Given the description of an element on the screen output the (x, y) to click on. 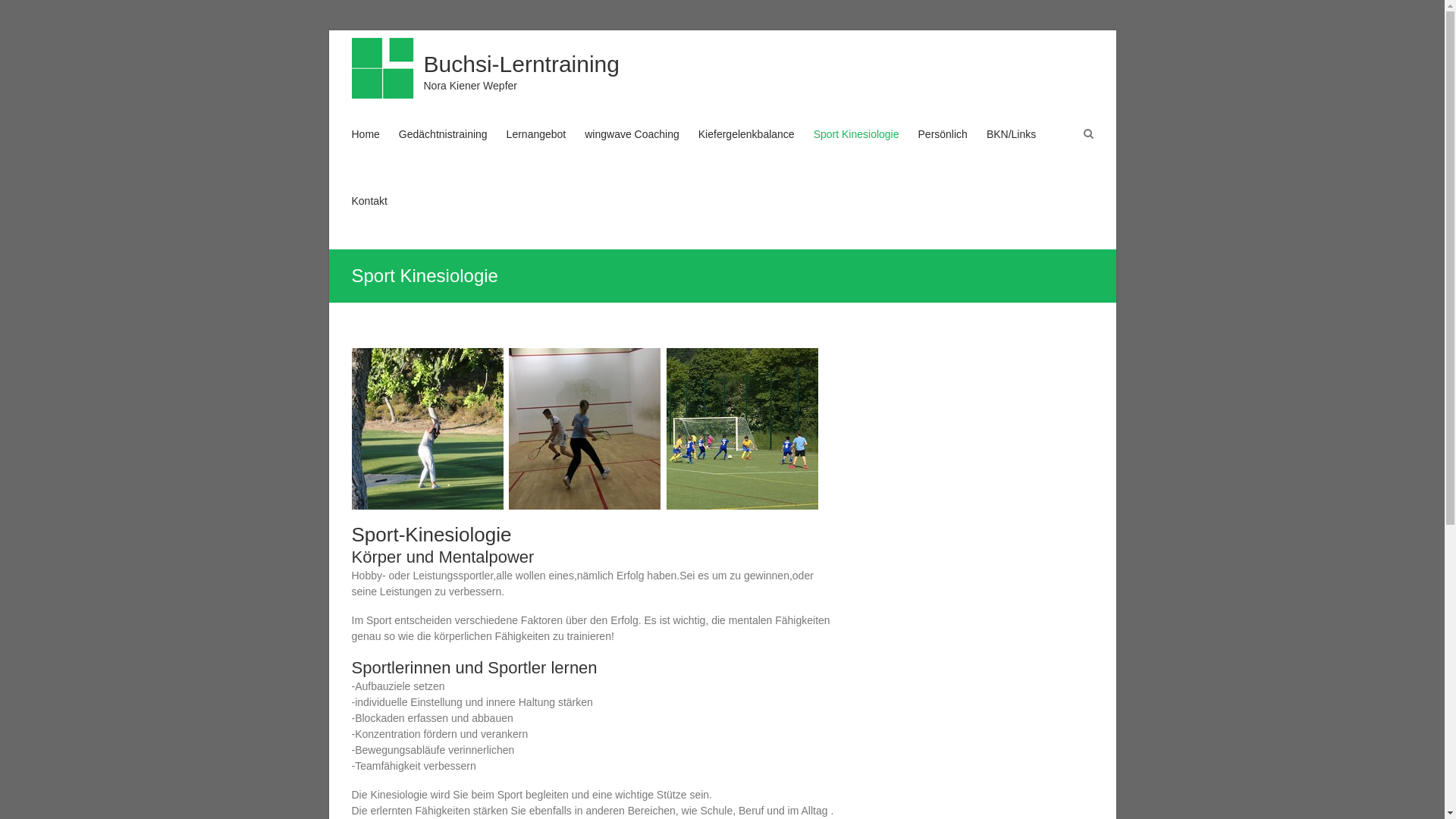
Kontakt Element type: text (369, 215)
Kiefergelenkbalance Element type: text (746, 148)
wingwave Coaching Element type: text (631, 148)
BKN/Links Element type: text (1010, 148)
Home Element type: text (365, 148)
Sport Kinesiologie Element type: text (856, 148)
Buchsi-Lerntraining Element type: text (520, 63)
Lernangebot Element type: text (536, 148)
  Element type: text (663, 355)
Buchsi-Lerntraining Element type: hover (385, 67)
  Element type: text (430, 355)
